Given the description of an element on the screen output the (x, y) to click on. 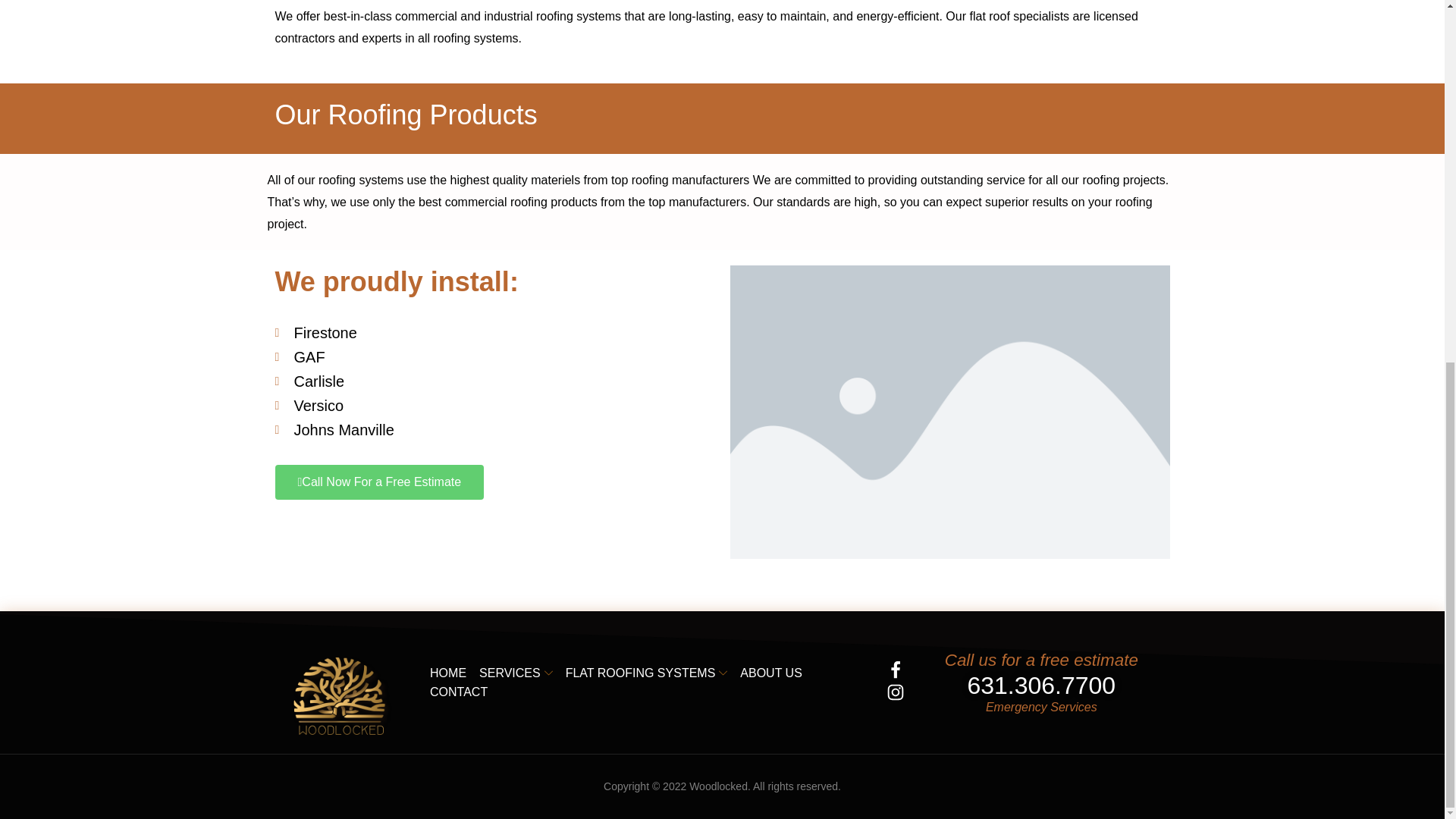
ARROW-DOWN (722, 673)
ARROW-DOWN (548, 673)
